Given the description of an element on the screen output the (x, y) to click on. 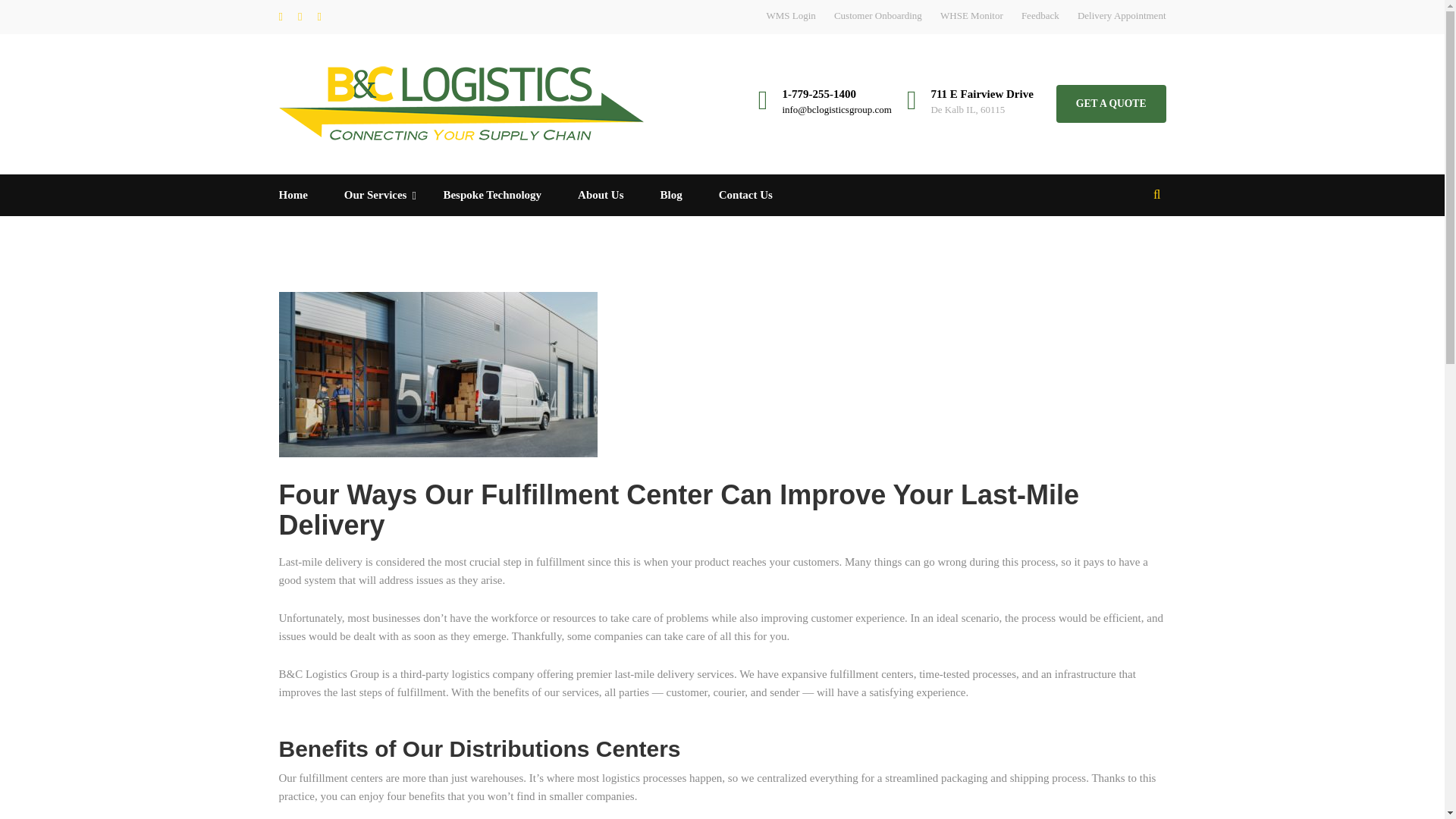
Delivery Appointment (1121, 15)
1-779-255-1400 (818, 93)
GET A QUOTE (1111, 103)
WMS Login (790, 15)
Feedback (1040, 15)
Home (302, 195)
711 E Fairview Drive (981, 93)
WHSE Monitor (971, 15)
Customer Onboarding (877, 15)
Contact Us (745, 195)
